Given the description of an element on the screen output the (x, y) to click on. 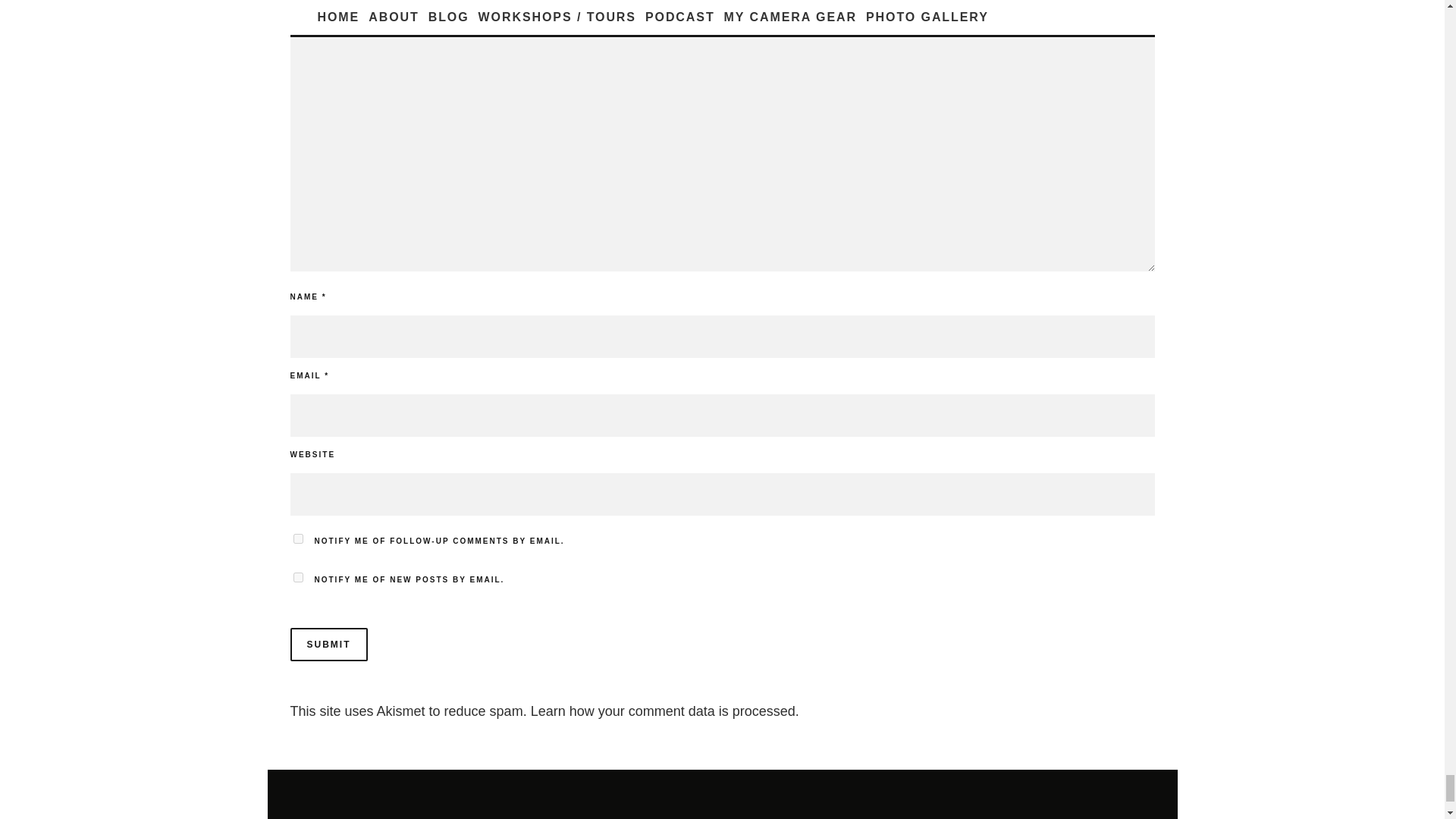
subscribe (297, 538)
Submit (327, 644)
subscribe (297, 577)
